Given the description of an element on the screen output the (x, y) to click on. 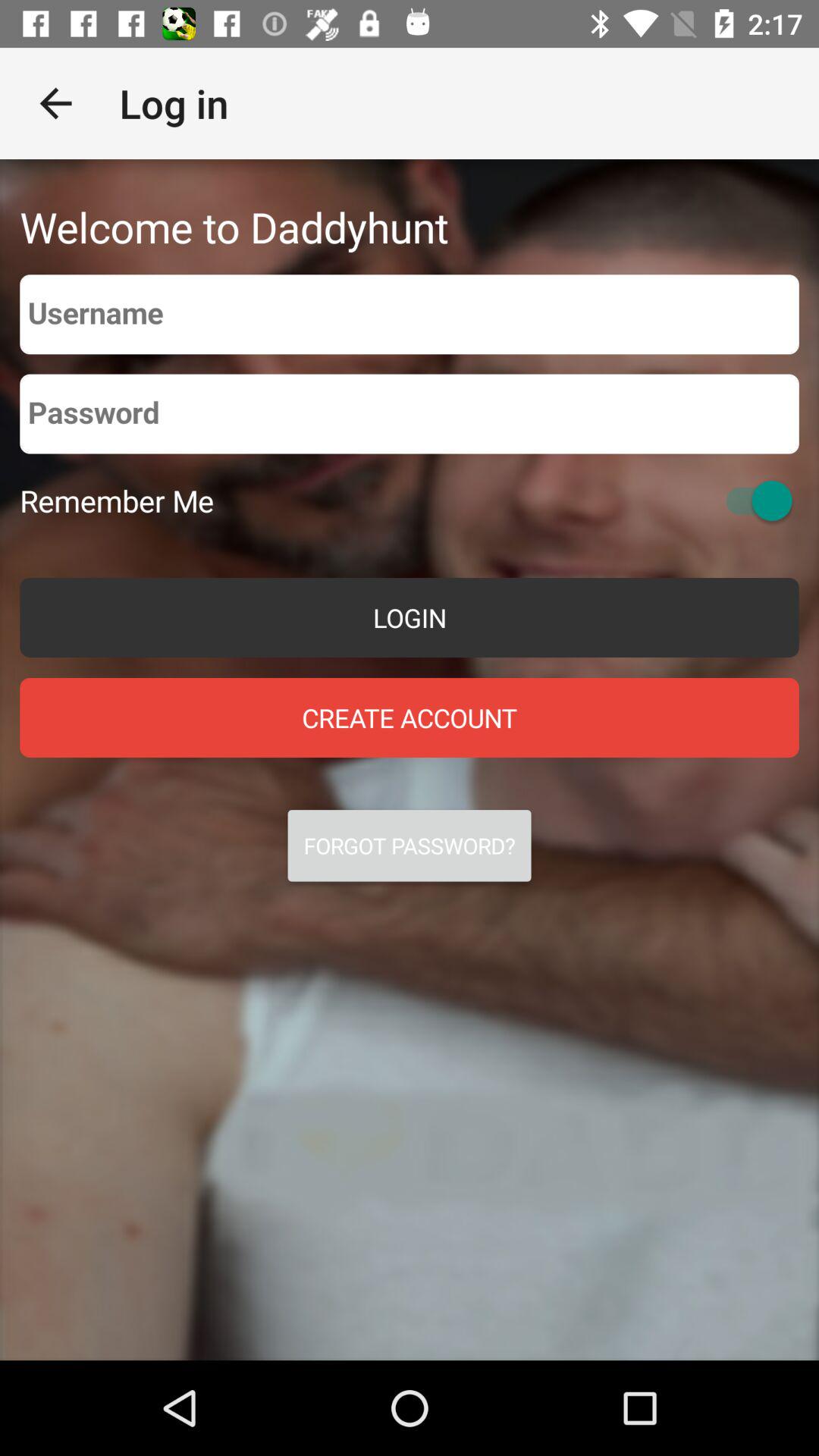
open the icon above the forgot password? icon (409, 717)
